Given the description of an element on the screen output the (x, y) to click on. 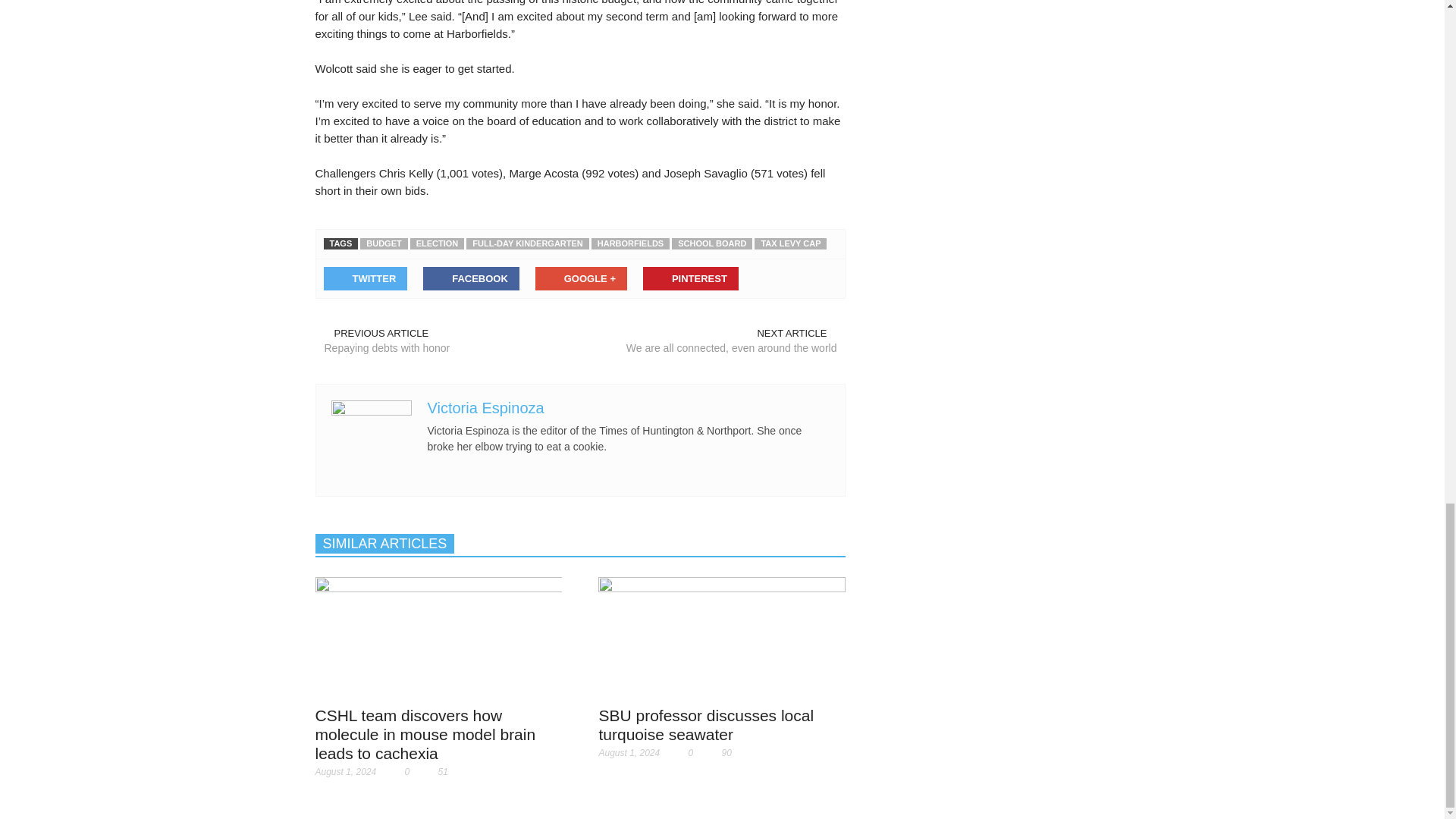
SBU professor discusses local turquoise seawater (721, 637)
SBU professor discusses local turquoise seawater (705, 724)
SBU professor discusses local turquoise seawater (721, 636)
